Given the description of an element on the screen output the (x, y) to click on. 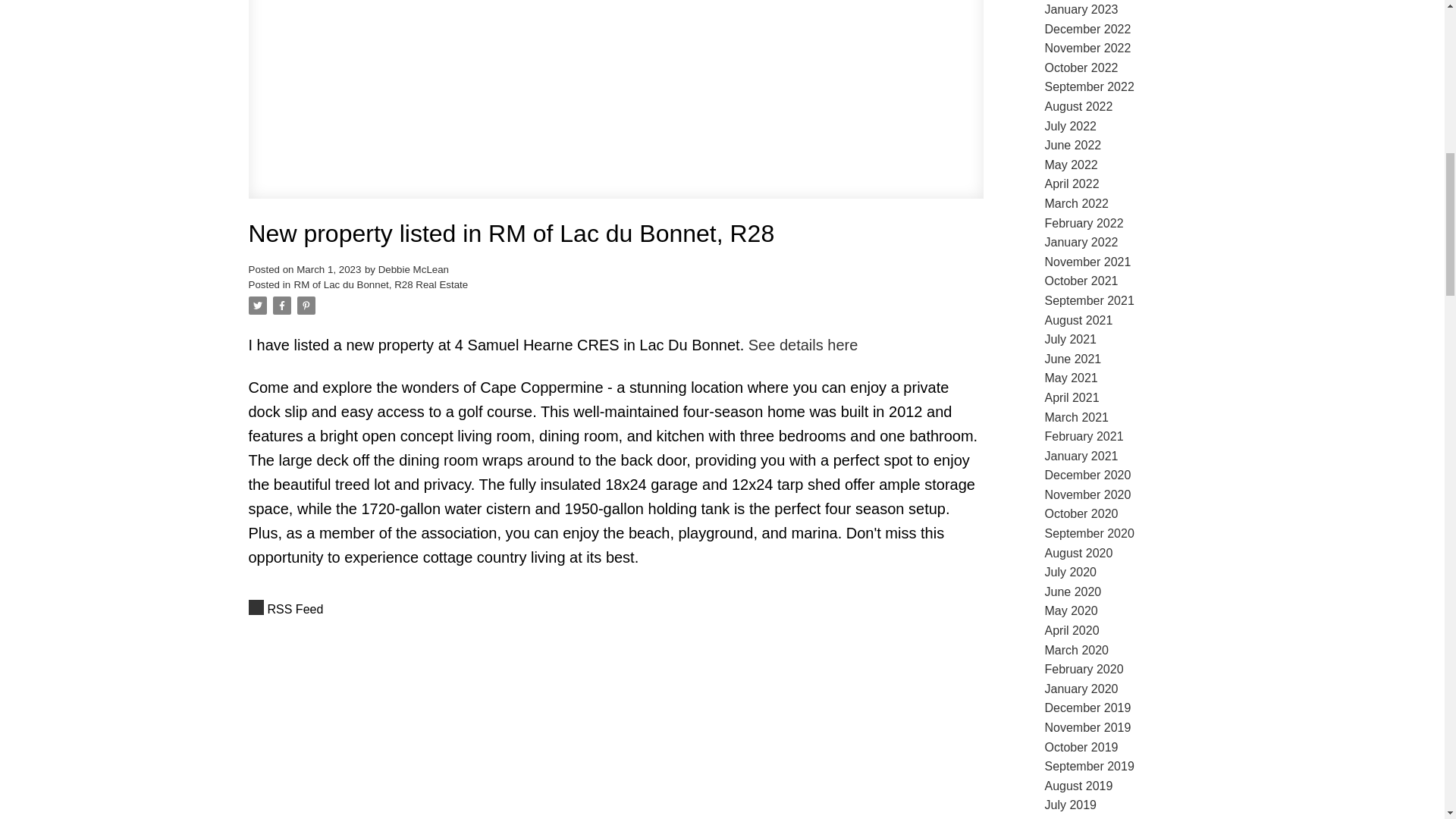
RSS (616, 609)
RM of Lac du Bonnet, R28 Real Estate (381, 284)
See details here (803, 344)
